Given the description of an element on the screen output the (x, y) to click on. 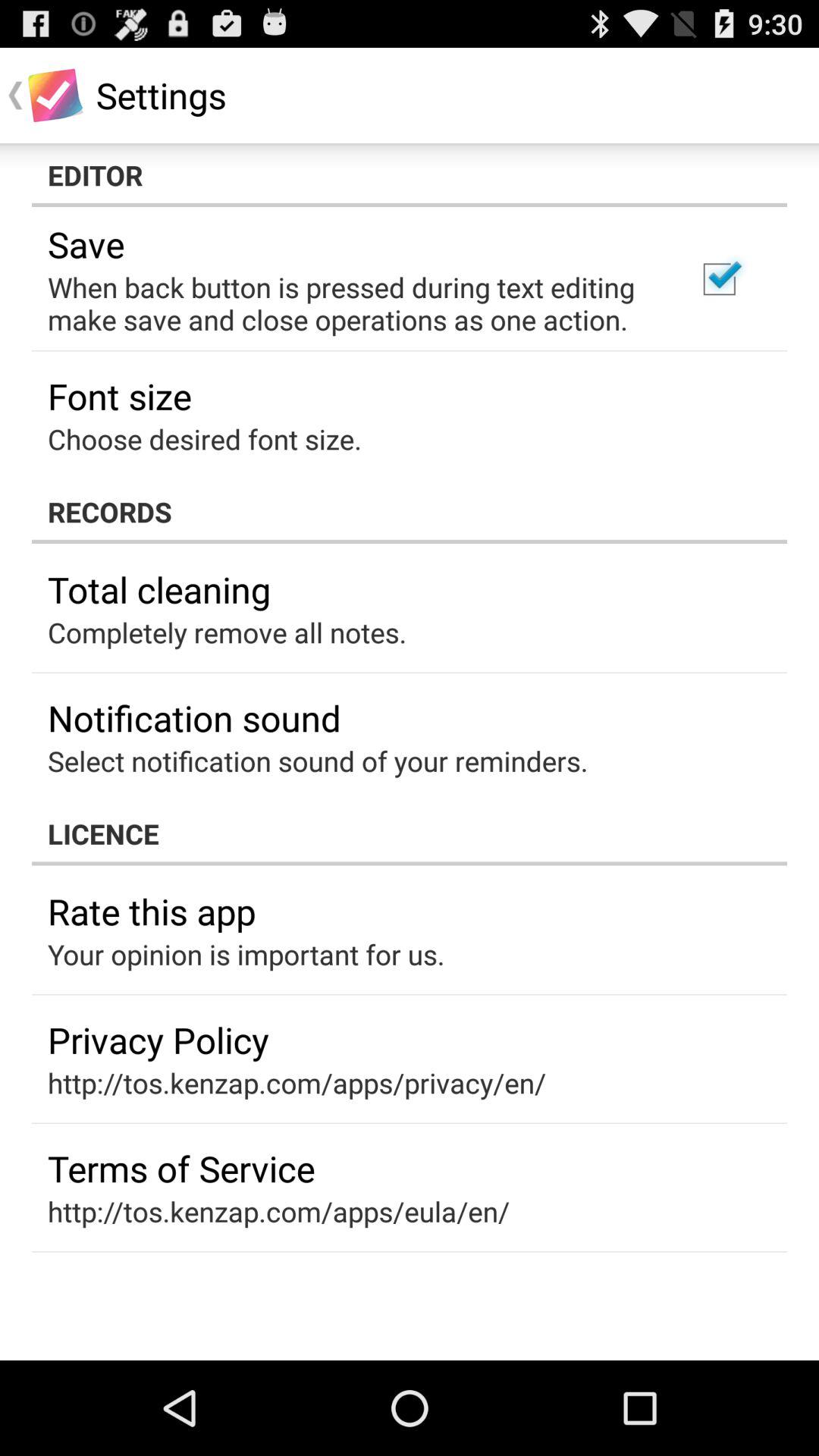
click when back button (351, 303)
